Given the description of an element on the screen output the (x, y) to click on. 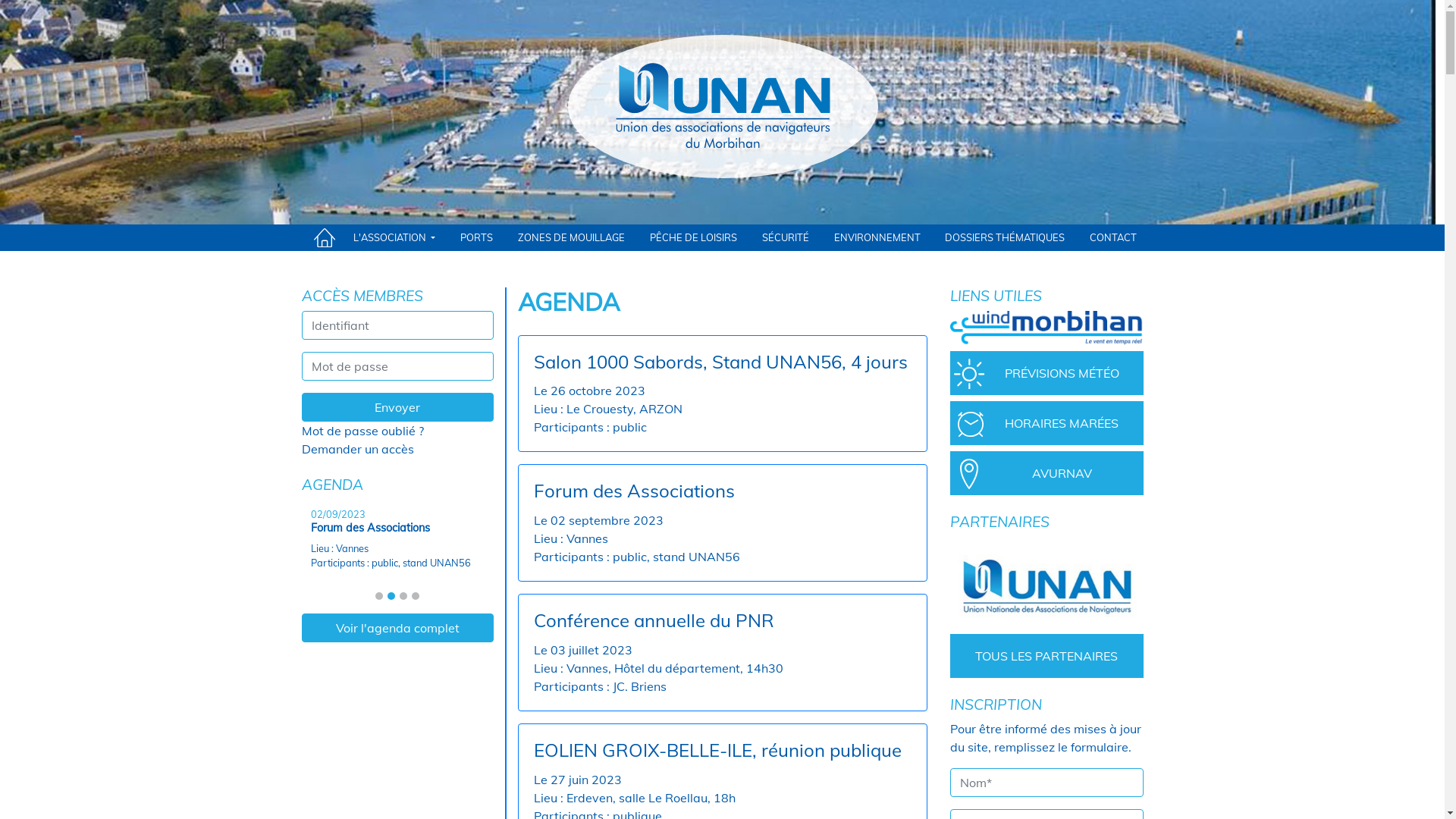
Voir l'agenda complet Element type: text (397, 627)
L'ASSOCIATION Element type: text (394, 237)
AVURNAV Element type: text (1045, 473)
Envoyer Element type: text (397, 406)
ENVIRONNEMENT Element type: text (877, 237)
PORTS Element type: text (476, 237)
CONTACT Element type: text (1112, 237)
TOUS LES PARTENAIRES Element type: text (1045, 655)
ZONES DE MOUILLAGE Element type: text (570, 237)
UNAN Element type: hover (1045, 584)
